Given the description of an element on the screen output the (x, y) to click on. 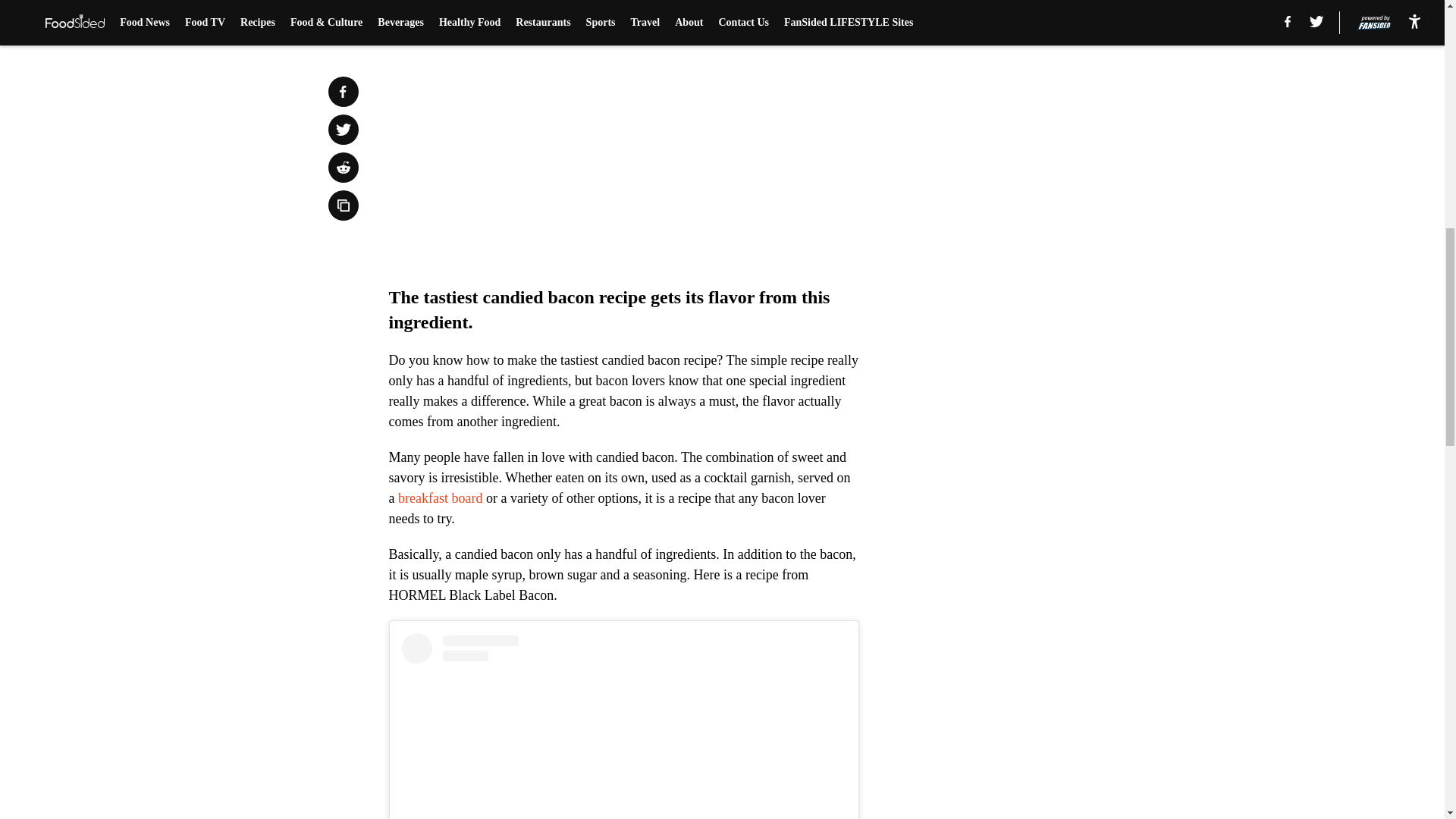
breakfast board (439, 498)
View this post on Instagram (623, 726)
